Given the description of an element on the screen output the (x, y) to click on. 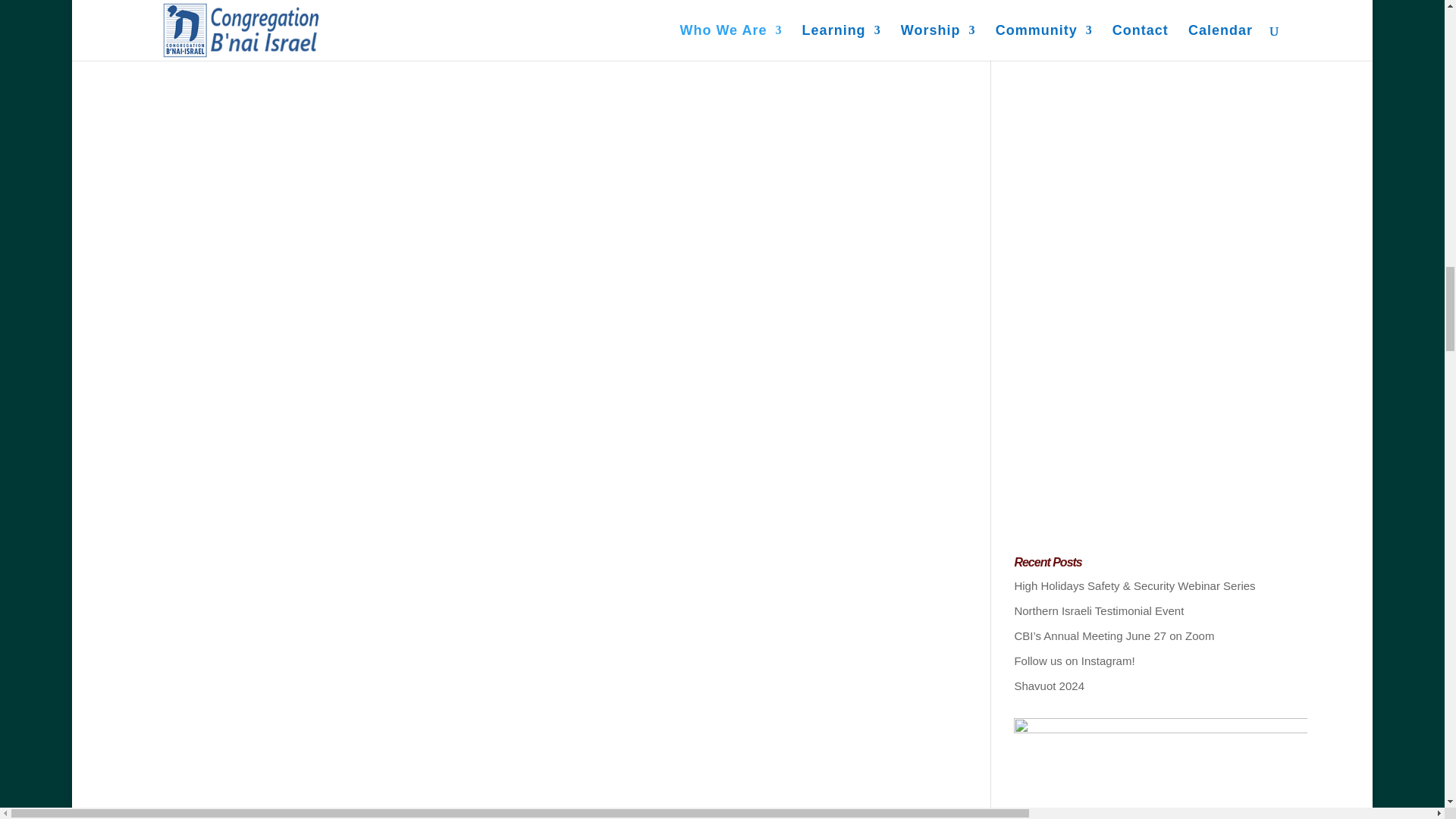
Northern Israeli Testimonial Event (1098, 610)
Follow us on Instagram! (1073, 660)
Shavuot 2024 (1048, 685)
